Given the description of an element on the screen output the (x, y) to click on. 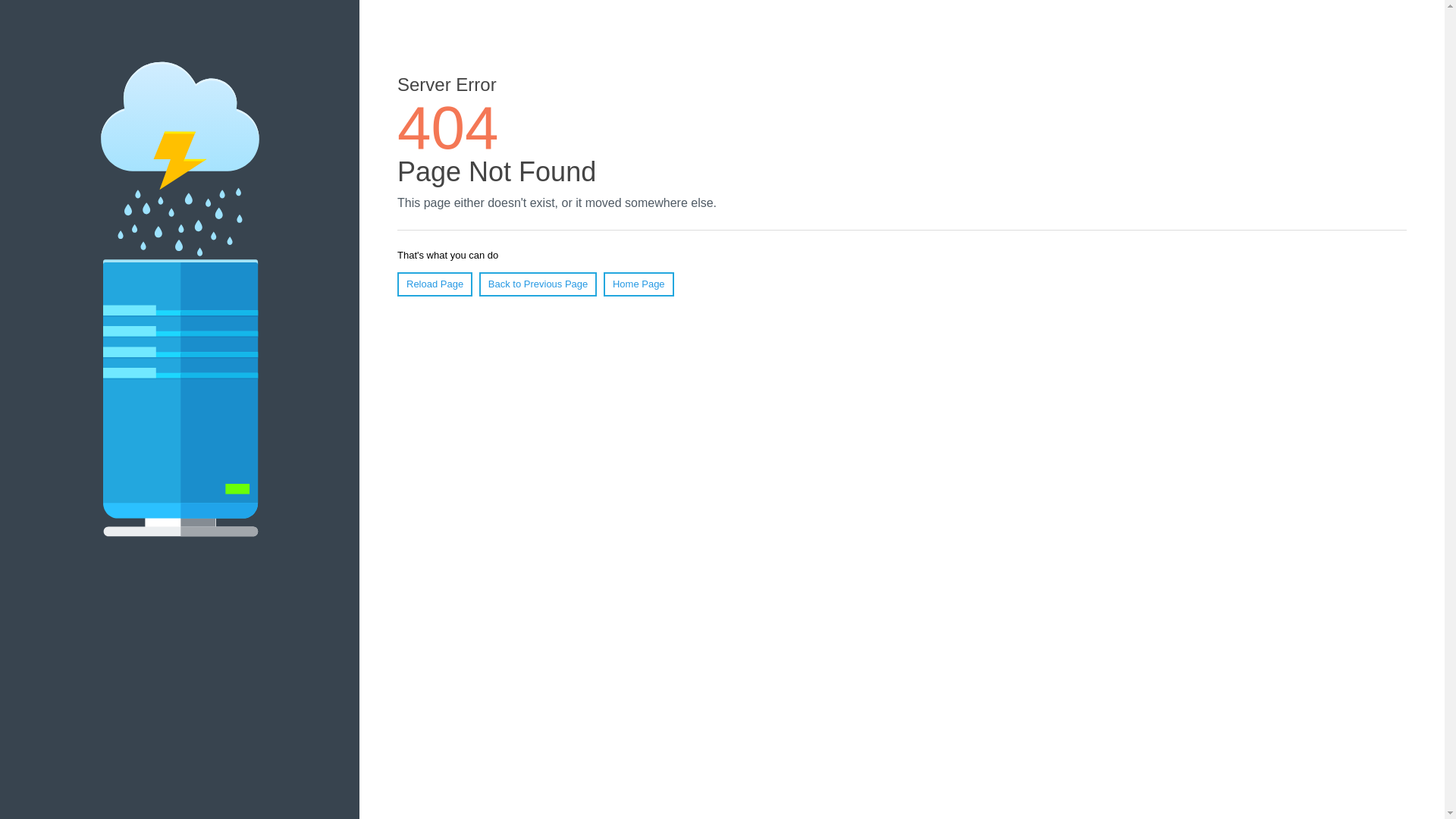
Home Page Element type: text (638, 284)
Reload Page Element type: text (434, 284)
Back to Previous Page Element type: text (538, 284)
